Given the description of an element on the screen output the (x, y) to click on. 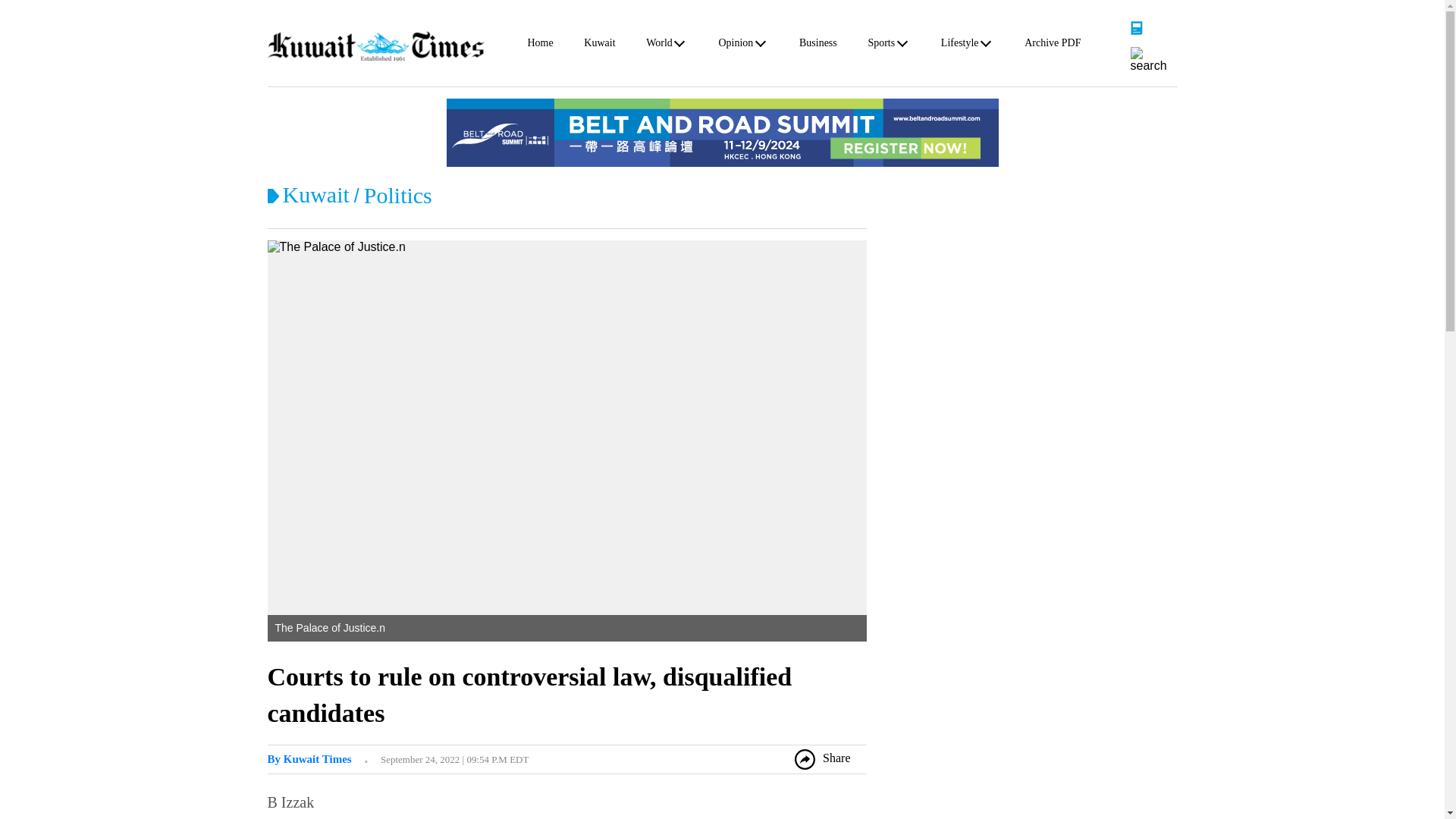
kuwaittimes.com (374, 45)
Politics (398, 195)
Home (540, 46)
Business (818, 46)
World (659, 46)
safeer (308, 758)
Banner-Ad (721, 131)
Kuwait (315, 194)
Lifestyle (959, 46)
Courts to rule on controversial law, disqualified candidates (529, 694)
Archive PDF (1052, 46)
pdf (1136, 26)
Kuwait (598, 46)
By Kuwait Times (308, 758)
Opinion (734, 46)
